Given the description of an element on the screen output the (x, y) to click on. 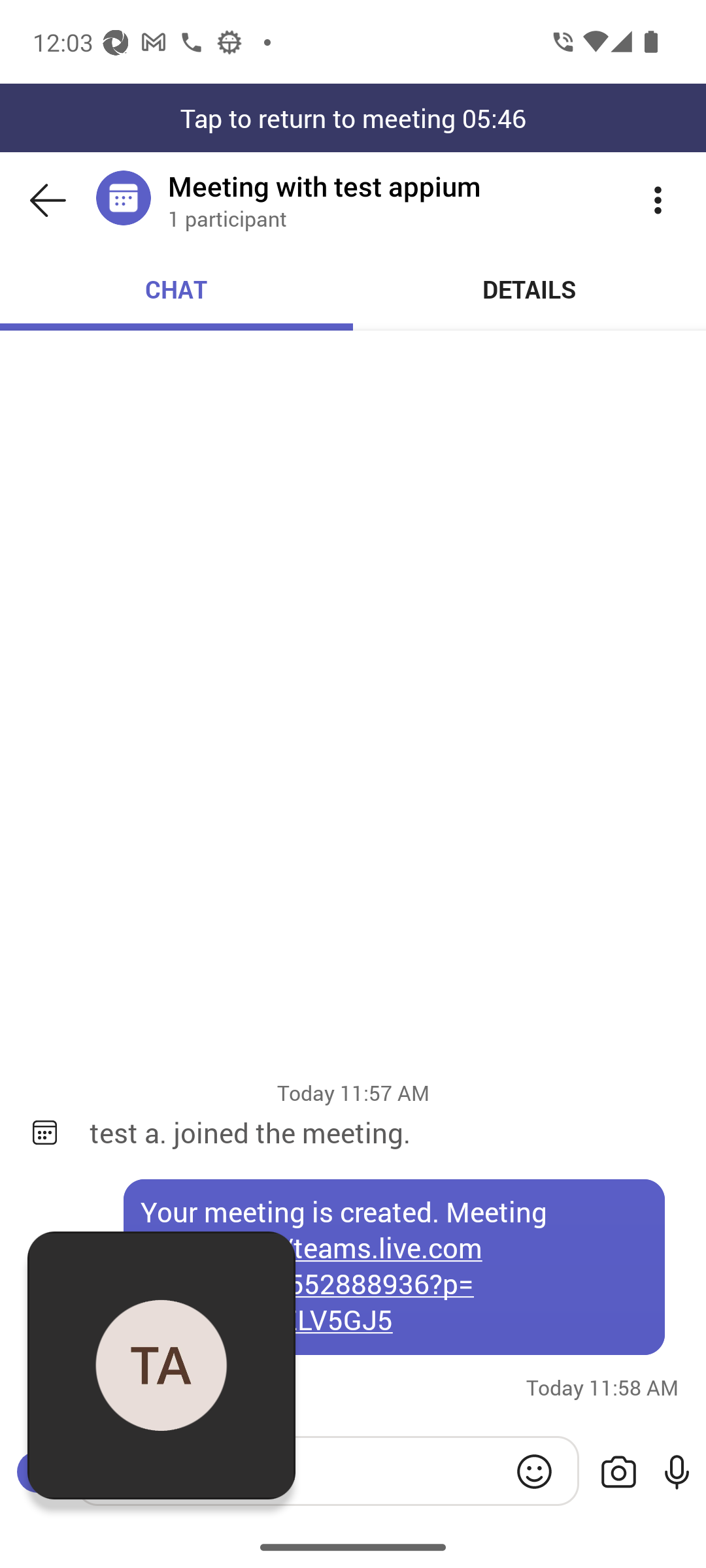
Tap to return to meeting 05:46 (353, 117)
Back (48, 199)
More options (657, 199)
Details DETAILS (529, 288)
test a. joined the meeting. (383, 1131)
Button for loading camera action functionality (618, 1471)
GIFs and emojis picker (533, 1471)
